Given the description of an element on the screen output the (x, y) to click on. 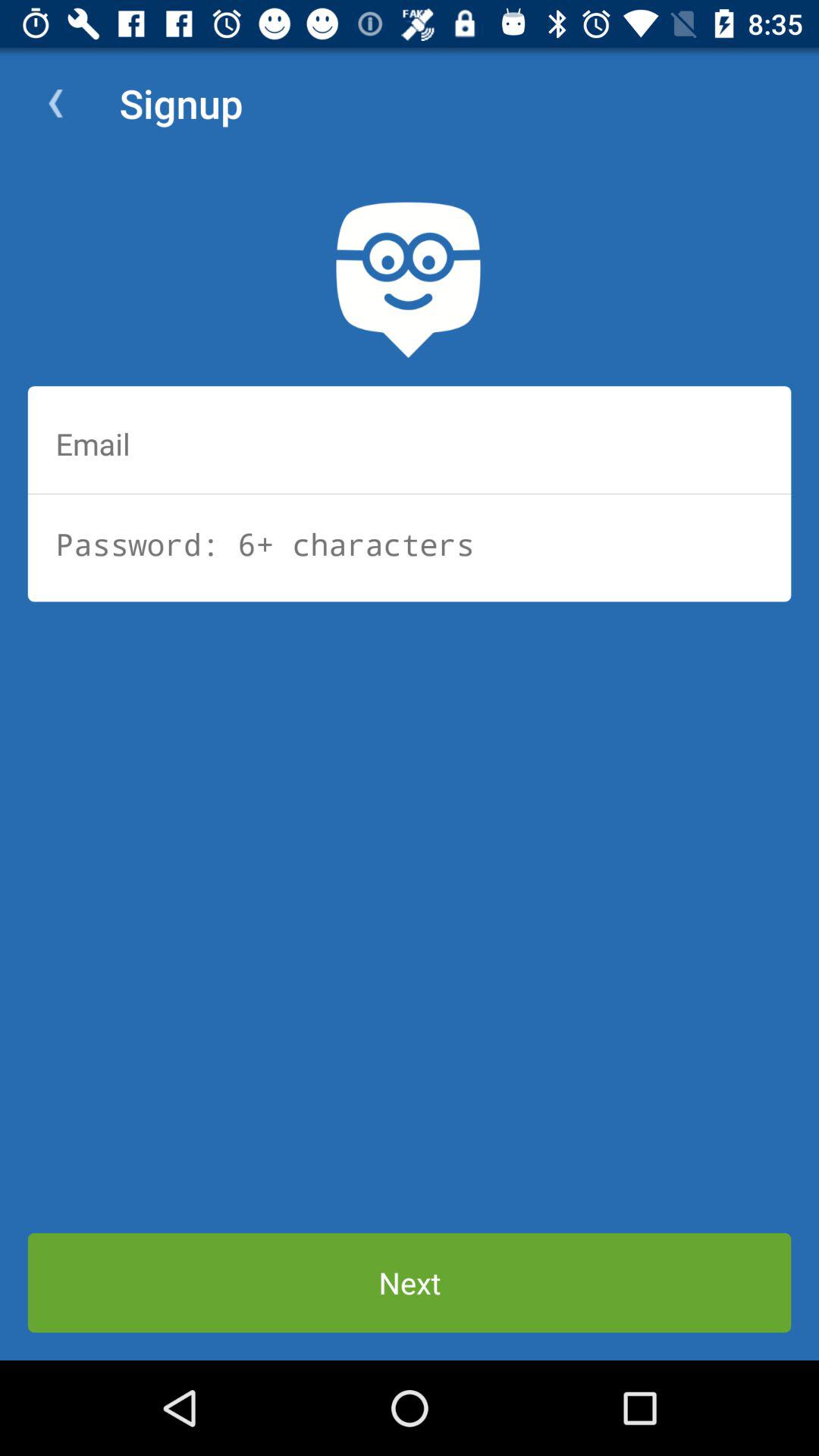
type password (409, 543)
